Given the description of an element on the screen output the (x, y) to click on. 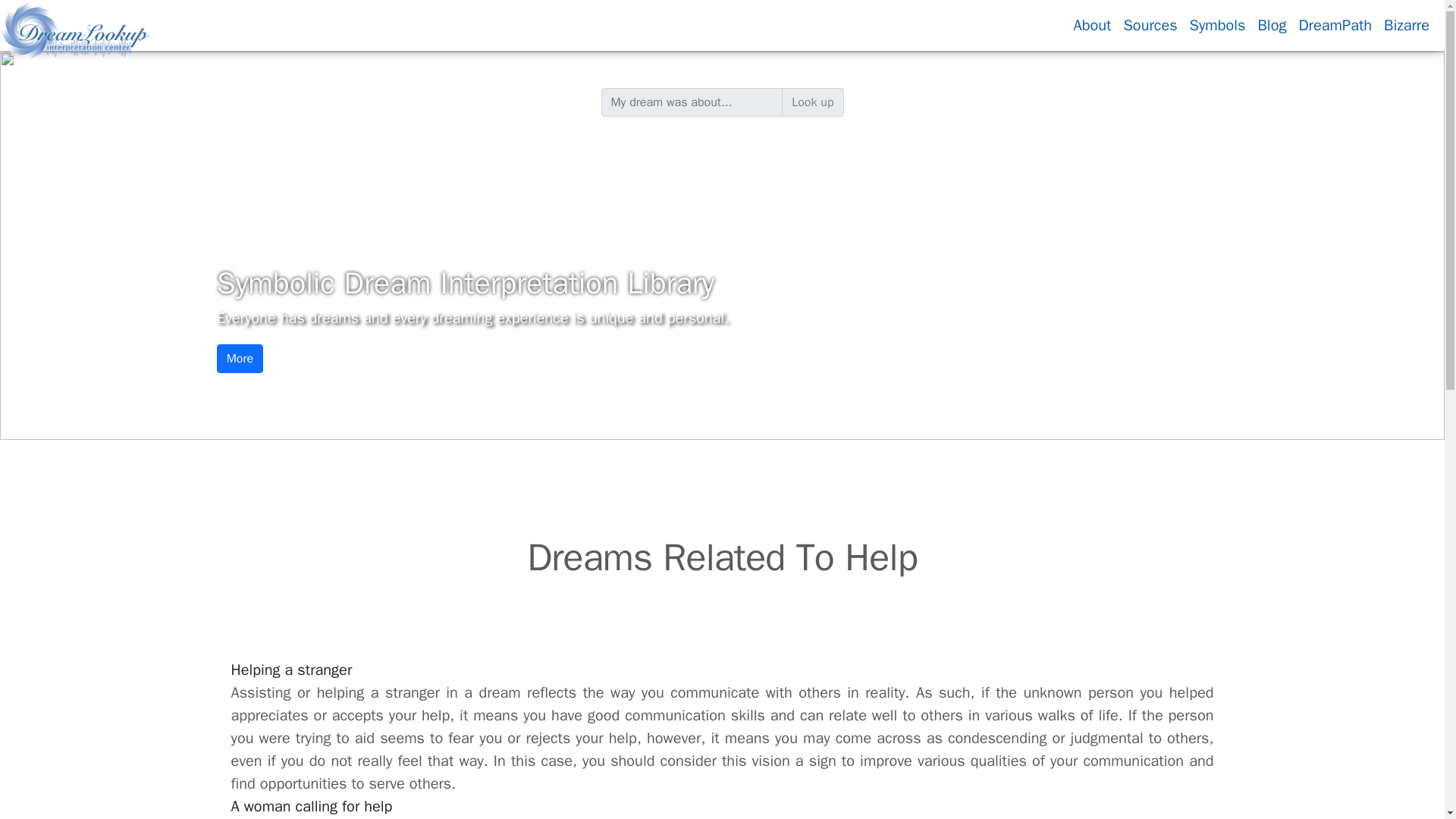
Symbols (1217, 24)
DreamPath (1334, 24)
Bizarre (1406, 24)
More (239, 358)
About (1092, 24)
Sources (1149, 24)
Blog (1271, 24)
More (239, 358)
